Given the description of an element on the screen output the (x, y) to click on. 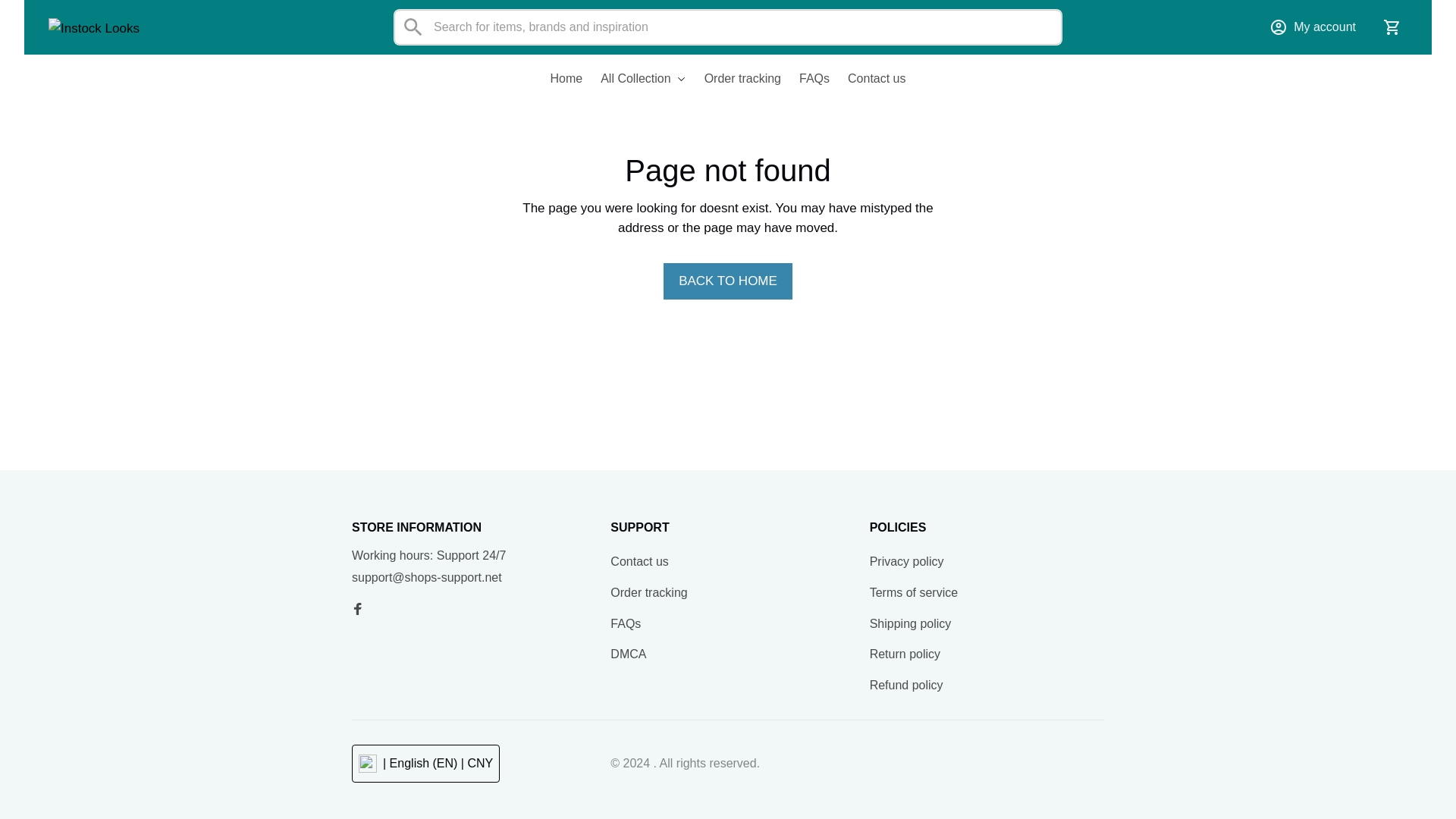
FAQs (625, 624)
BACK TO HOME (727, 280)
Order tracking (742, 78)
All Collection (642, 78)
Terms of service (913, 592)
Return policy (904, 654)
Home (570, 78)
DMCA (628, 654)
Order tracking (648, 592)
Contact us (639, 561)
Refund policy (906, 685)
FAQs (814, 78)
Shipping policy (910, 624)
Privacy policy (906, 561)
Contact us (871, 78)
